Given the description of an element on the screen output the (x, y) to click on. 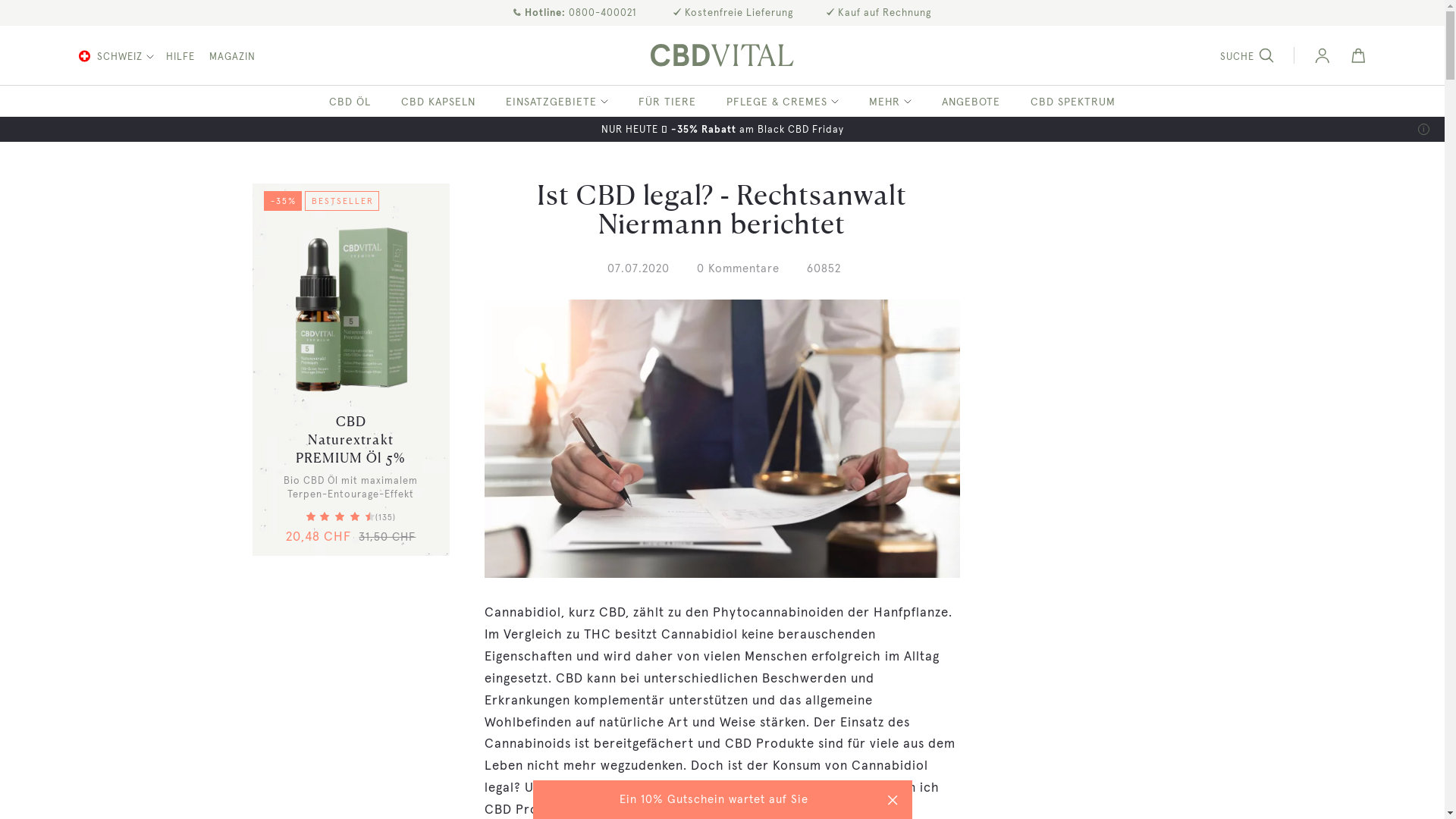
SUCHE Element type: text (1257, 56)
0 Kommentare Element type: text (737, 268)
CBD SPEKTRUM Element type: text (1072, 98)
CBD KAPSELN Element type: text (438, 98)
ANGEBOTE Element type: text (970, 98)
HILFE Element type: text (175, 56)
MAGAZIN Element type: text (225, 56)
Mein Konto Element type: hover (1322, 56)
0800-400021 Element type: text (602, 13)
